Given the description of an element on the screen output the (x, y) to click on. 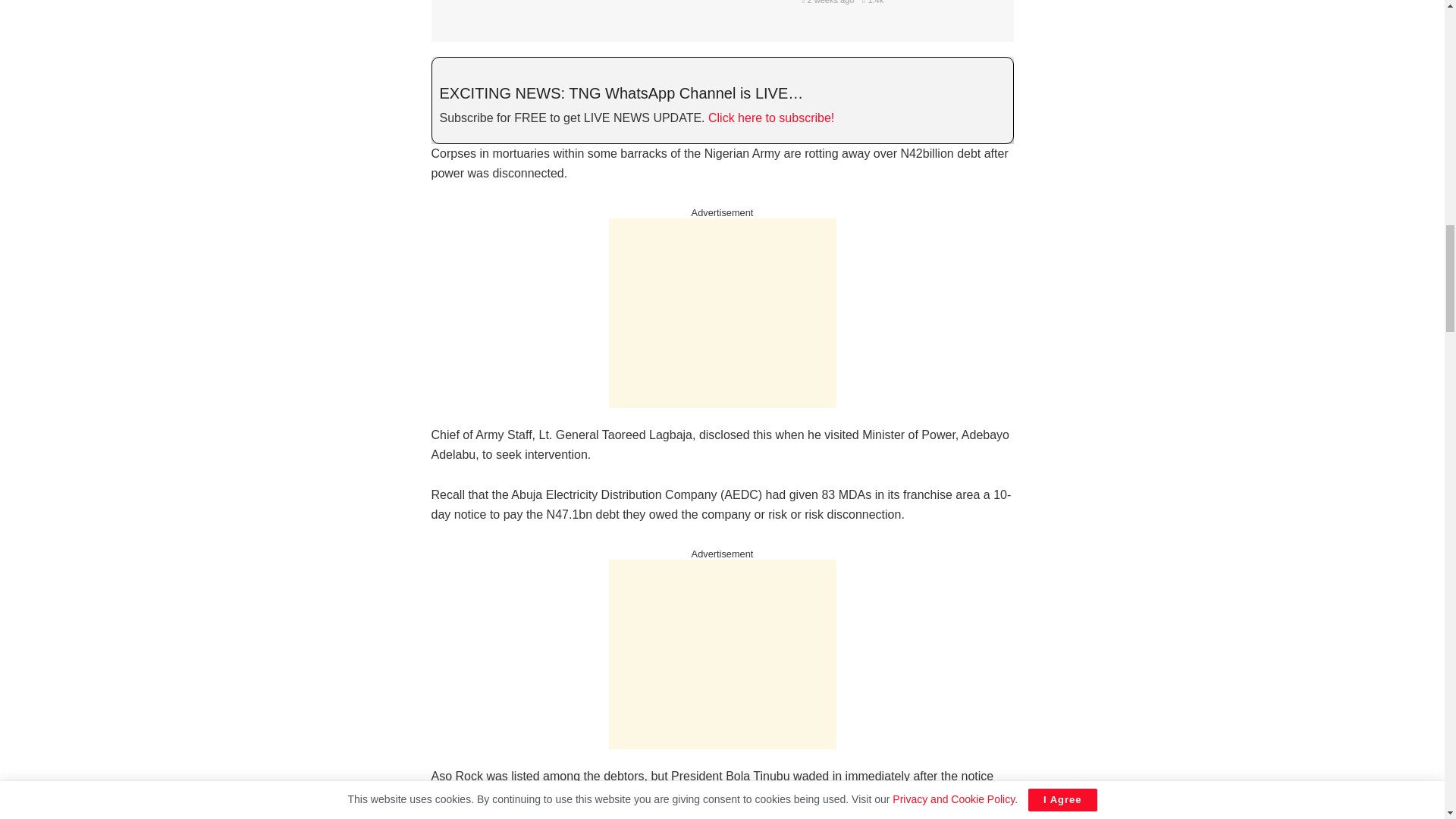
Advertisement (721, 654)
Advertisement (721, 312)
